Given the description of an element on the screen output the (x, y) to click on. 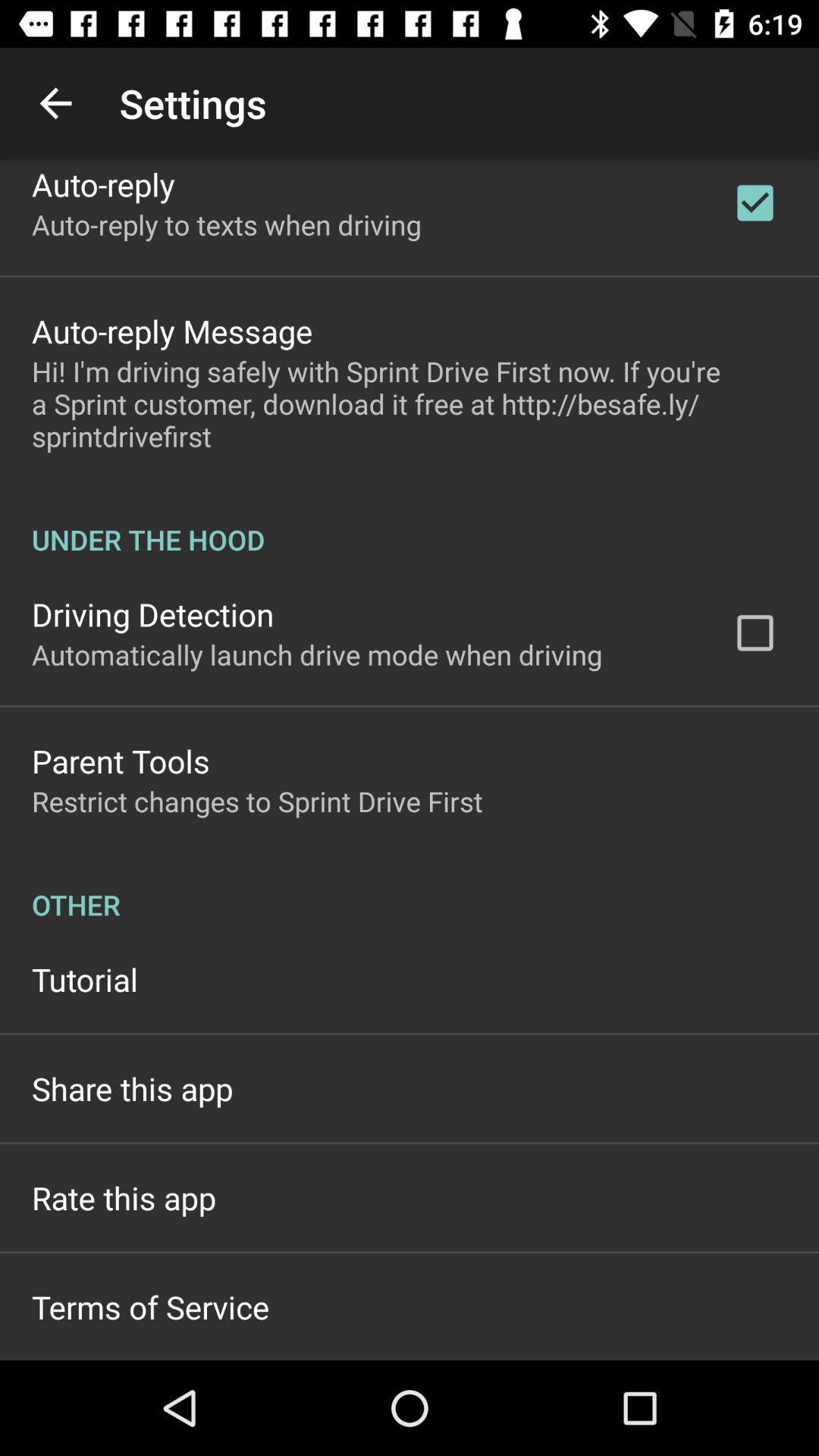
choose the other (409, 888)
